Given the description of an element on the screen output the (x, y) to click on. 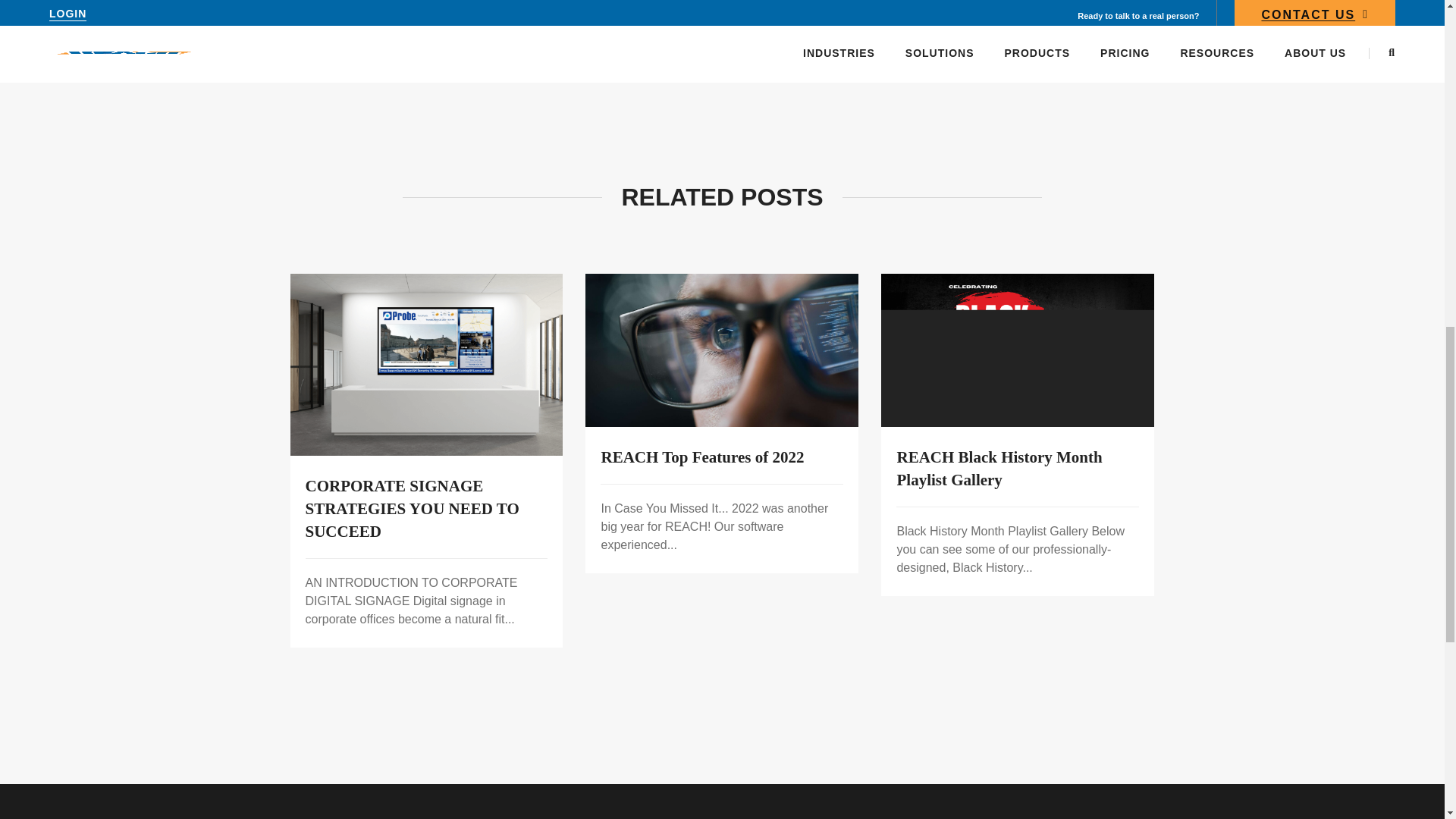
Corporate Example 1 - REACH Media Network (425, 364)
black-history-month-1 - REACH Media Network (1017, 349)
